Given the description of an element on the screen output the (x, y) to click on. 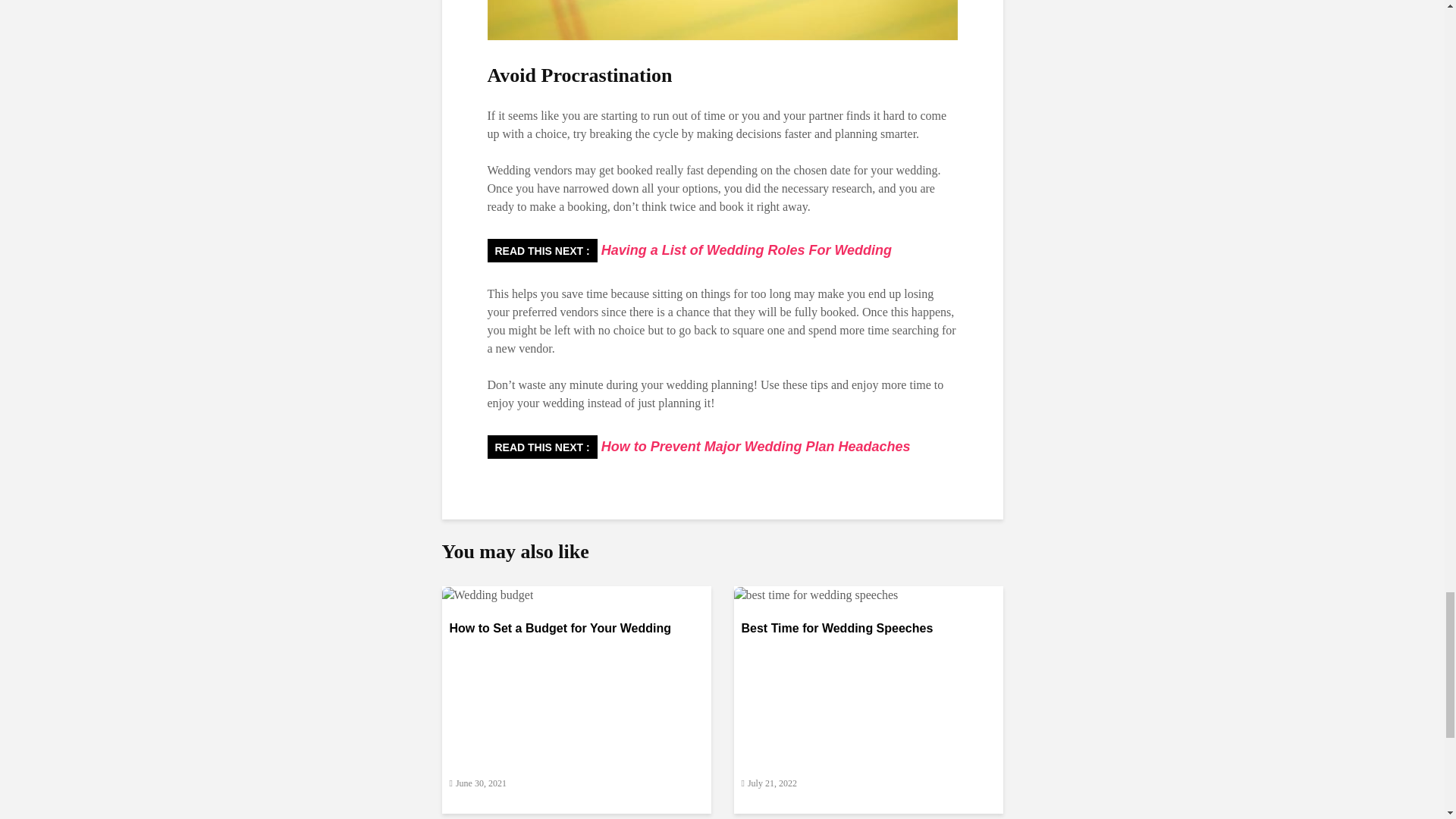
How to Prevent Major Wedding Plan Headaches (753, 446)
How to Set a Budget for Your Wedding (486, 594)
Best Time for Wedding Speeches (815, 594)
Having a List of Wedding Roles For Wedding (743, 249)
How to Set a Budget for Your Wedding (575, 639)
